Given the description of an element on the screen output the (x, y) to click on. 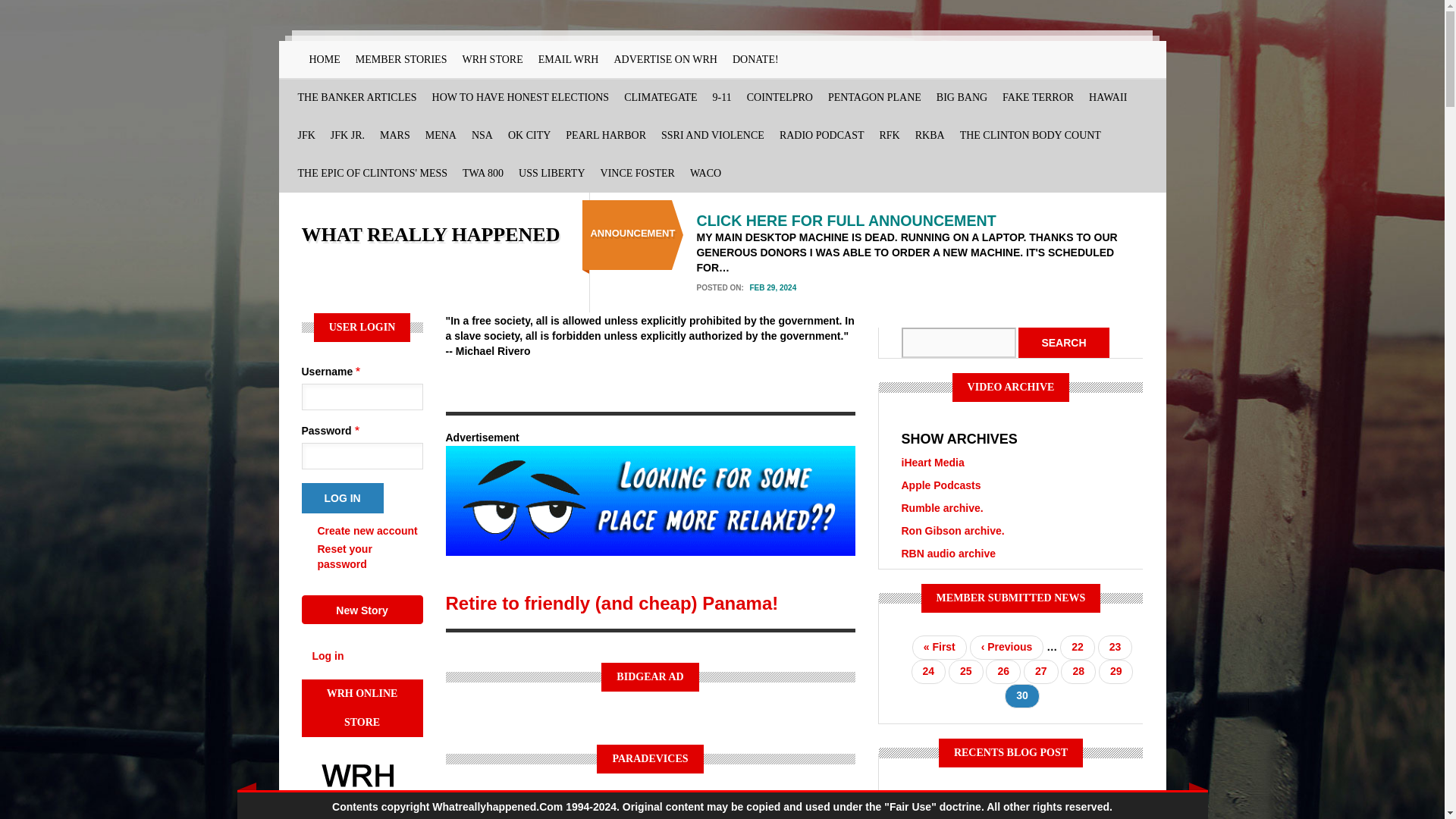
HAWAII (1107, 97)
THE BANKER ARTICLES (356, 97)
RADIO PODCAST (821, 135)
FAKE TERROR (1037, 97)
Create a new user account. (366, 530)
Enter the terms you wish to search for. (957, 342)
MEMBER STORIES (400, 59)
VINCE FOSTER (637, 173)
Home (430, 234)
RKBA (929, 135)
Go to page 28 (1078, 671)
TWA 800 (482, 173)
Go to page 23 (1114, 647)
ADVERTISE ON WRH (665, 59)
COINTELPRO (780, 97)
